Given the description of an element on the screen output the (x, y) to click on. 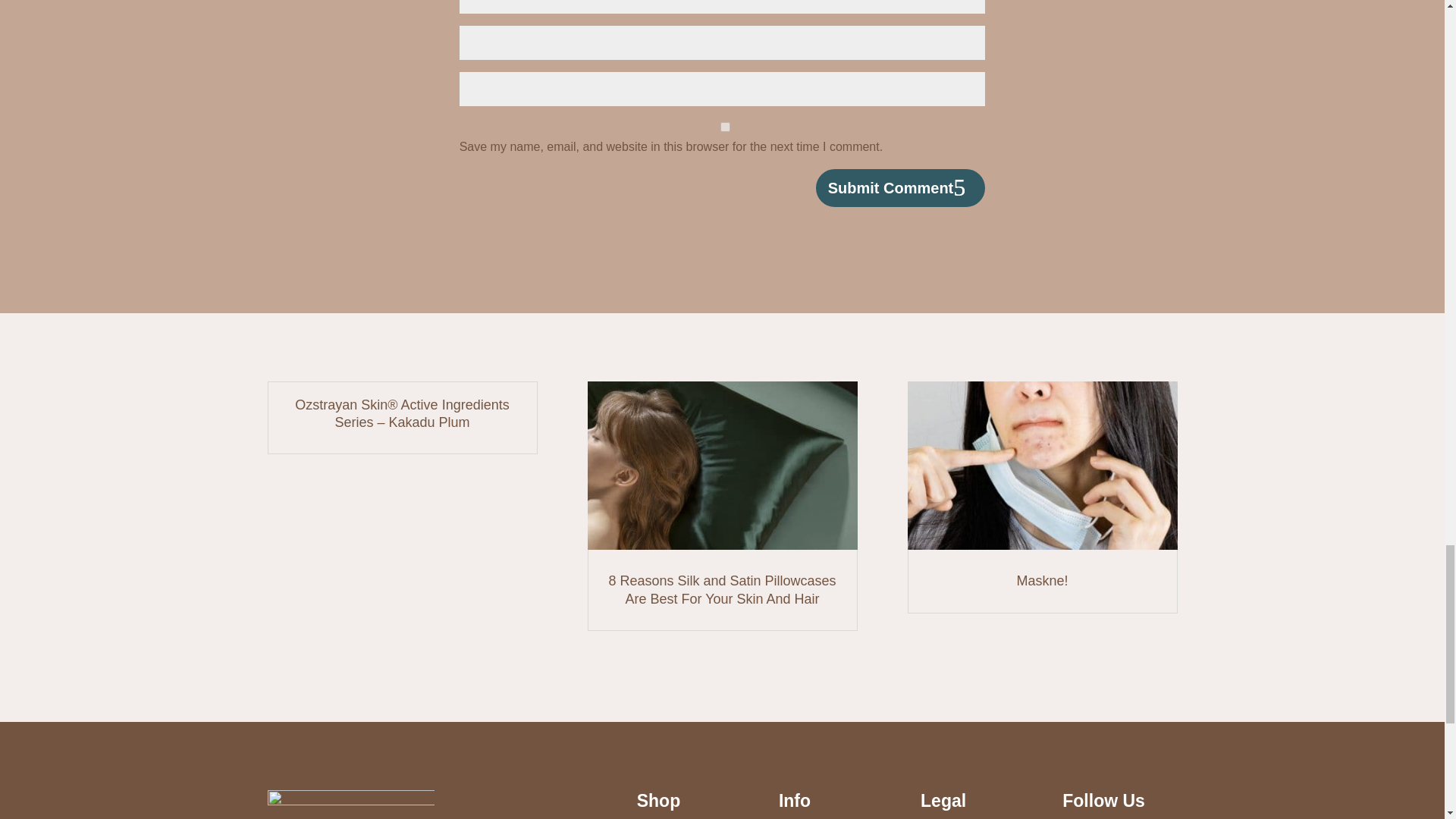
yes (725, 126)
Submit Comment (900, 187)
footer-ozstrayan-logo (349, 804)
